Given the description of an element on the screen output the (x, y) to click on. 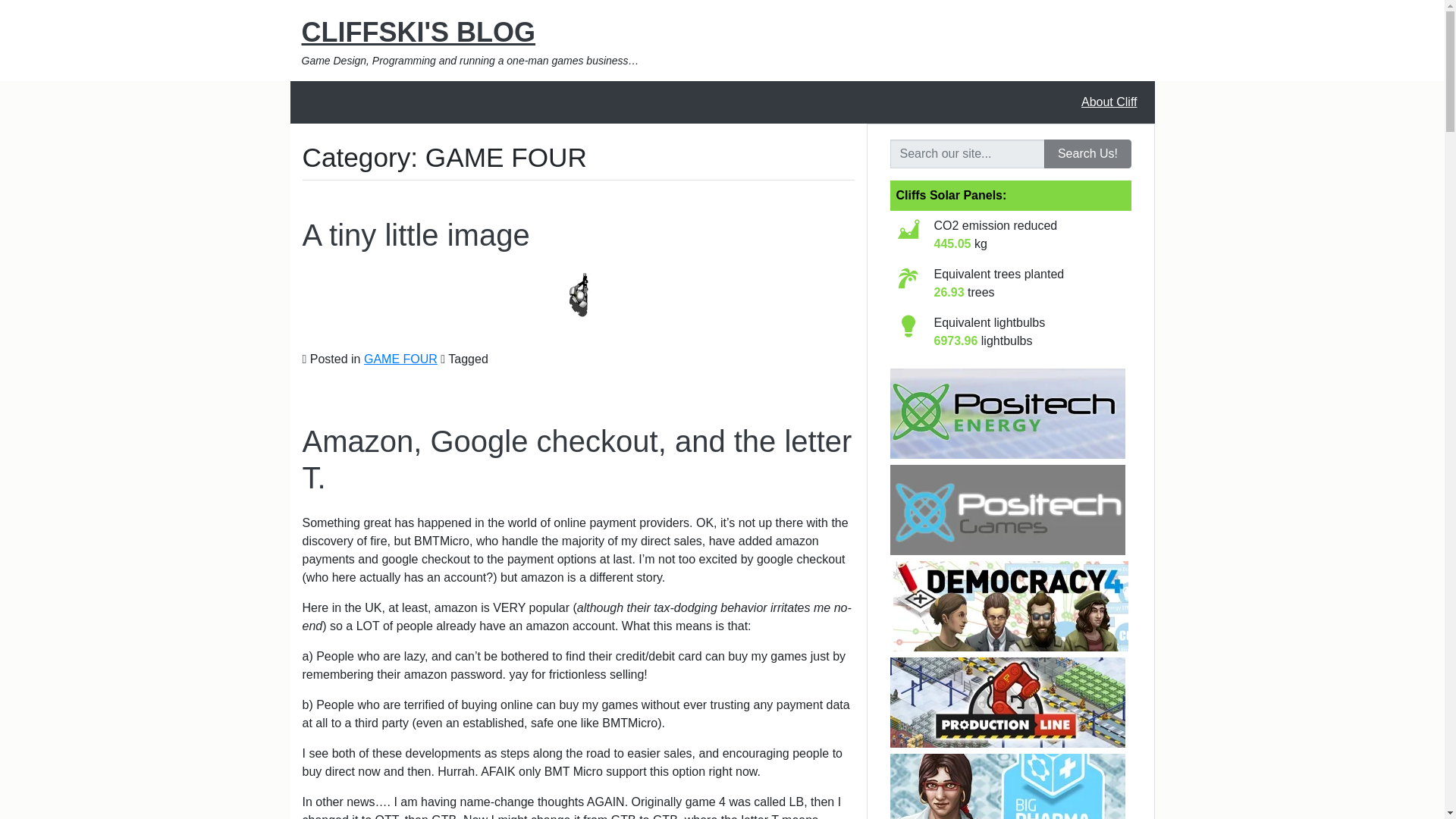
 Search Us!  (1087, 153)
none (577, 295)
CLIFFSKI'S BLOG (418, 31)
A tiny little image (415, 234)
Amazon, Google checkout, and the letter T. (576, 459)
 Search Us!  (1087, 153)
 Search Us!  (1087, 153)
GAME FOUR (401, 358)
About Cliff (1108, 101)
